Given the description of an element on the screen output the (x, y) to click on. 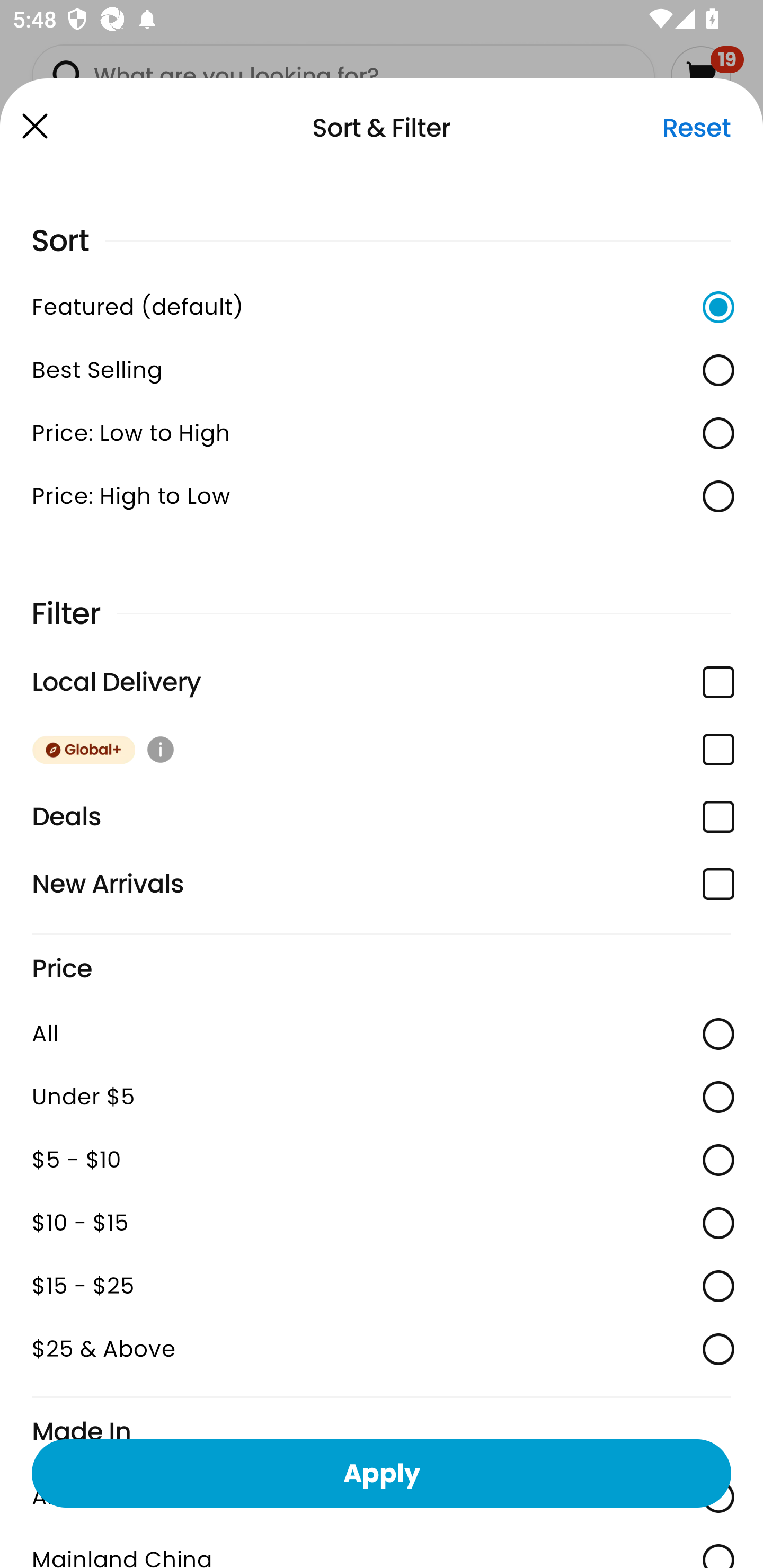
Reset (696, 127)
Apply (381, 1472)
